Given the description of an element on the screen output the (x, y) to click on. 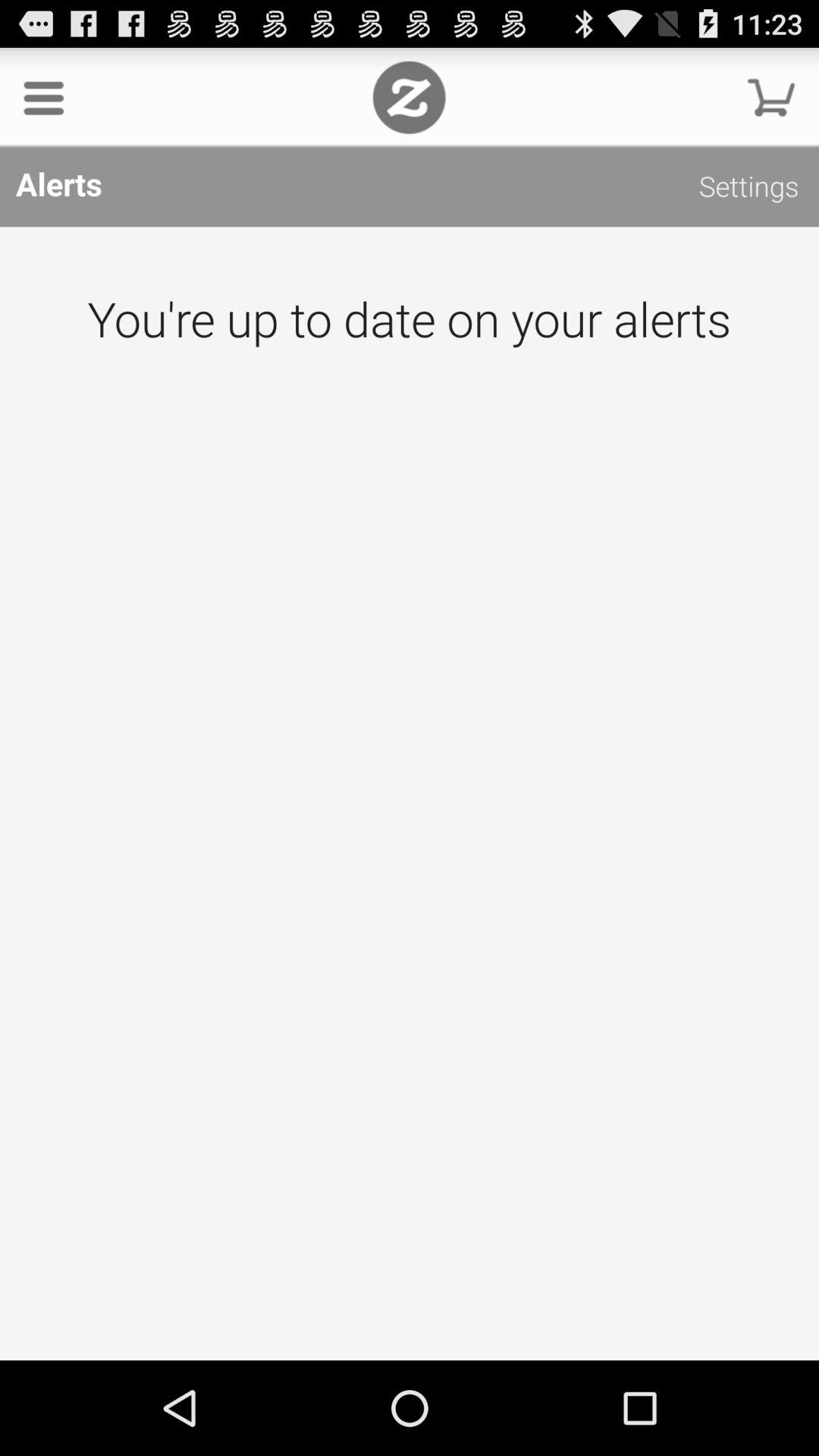
menu option (43, 97)
